Given the description of an element on the screen output the (x, y) to click on. 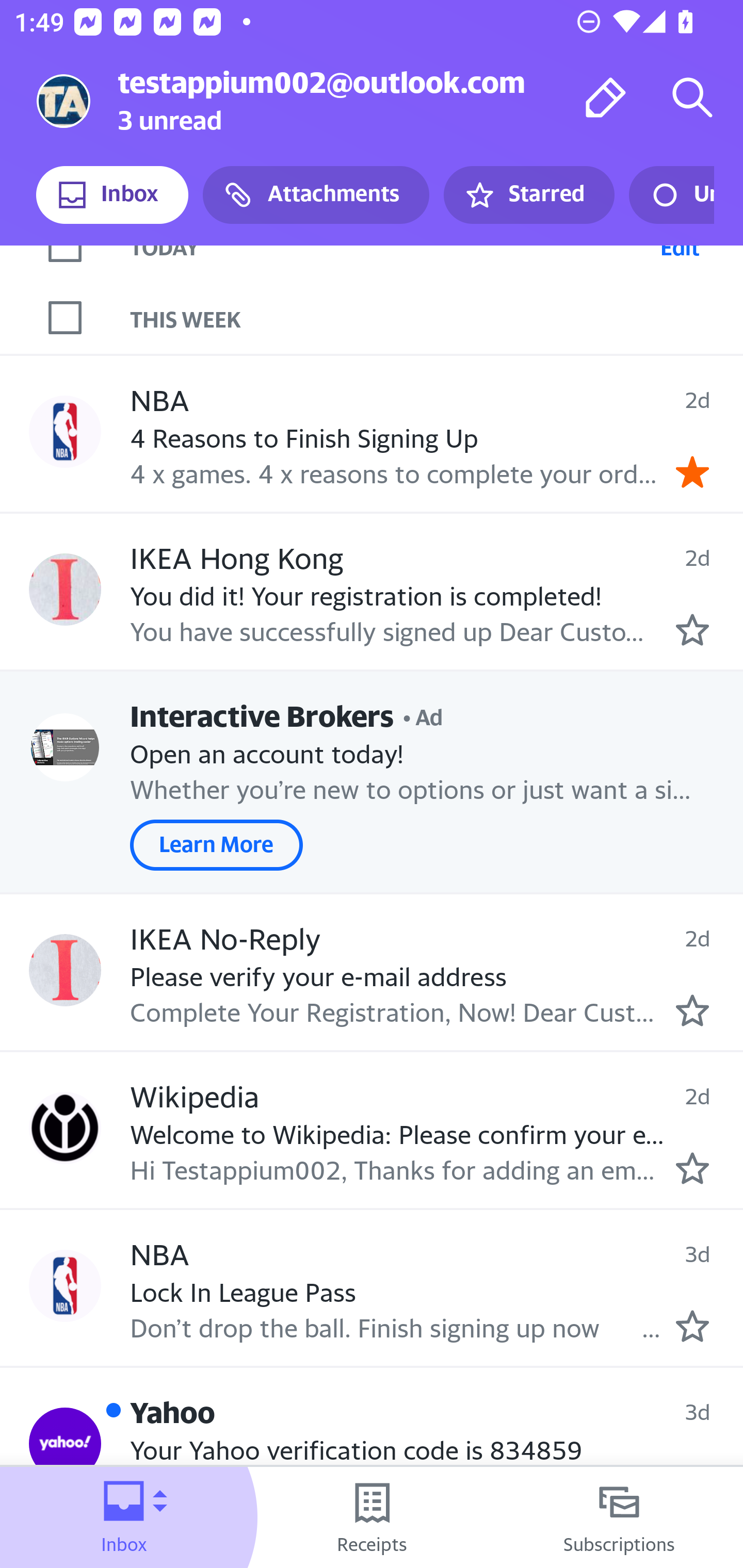
Compose (605, 97)
Search mail (692, 97)
Attachments (315, 195)
Starred (528, 195)
THIS WEEK (436, 317)
Profile
NBA (64, 431)
Remove star. (692, 471)
Profile
IKEA Hong Kong (64, 589)
Mark as starred. (692, 629)
Profile
IKEA No-Reply (64, 970)
Mark as starred. (692, 1010)
Profile
Wikipedia (64, 1127)
Mark as starred. (692, 1168)
Profile
NBA (64, 1285)
Mark as starred. (692, 1325)
Profile
Yahoo (64, 1444)
Inbox Folder picker (123, 1517)
Receipts (371, 1517)
Subscriptions (619, 1517)
